Given the description of an element on the screen output the (x, y) to click on. 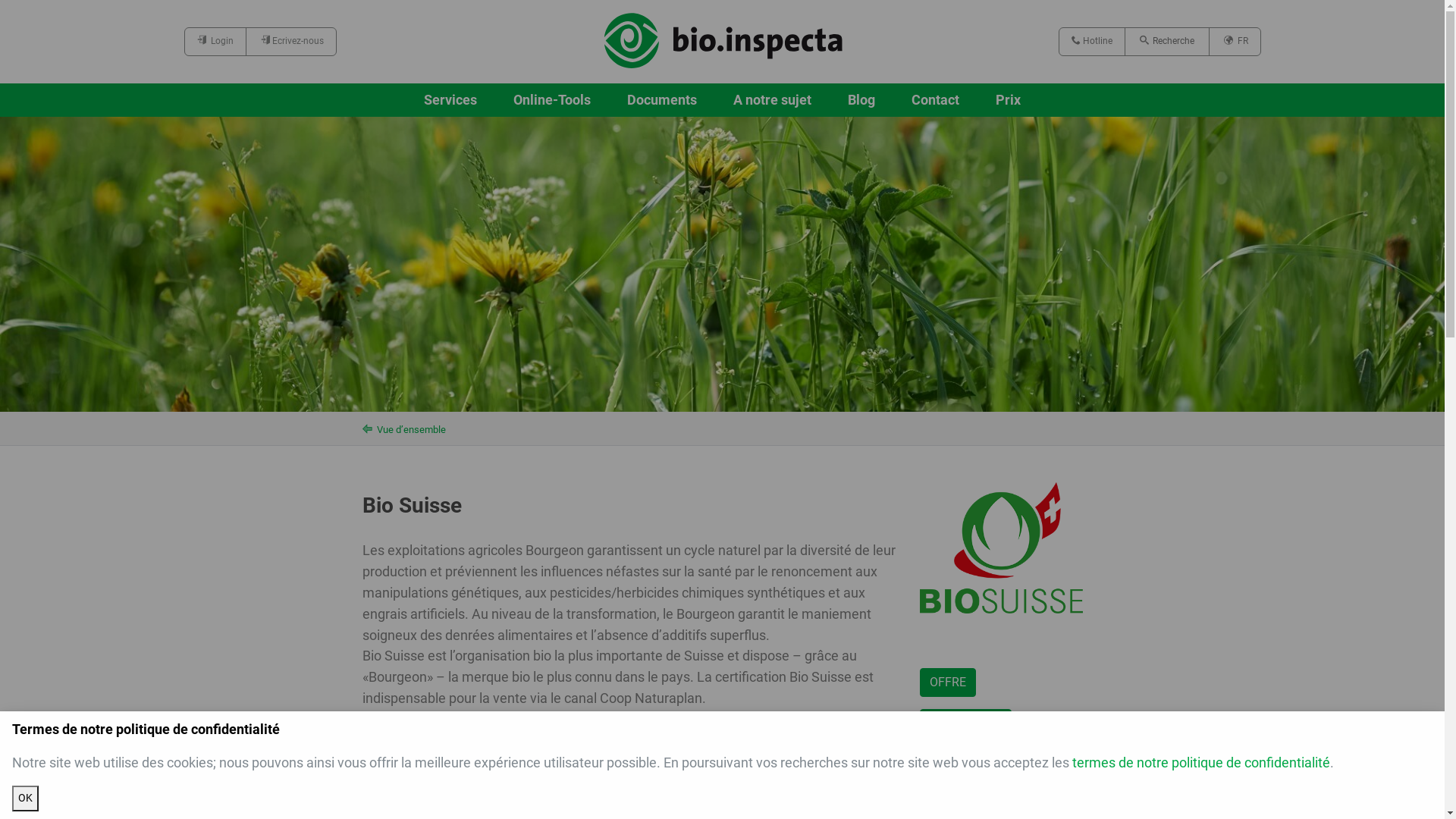
INSCRIPTION Element type: text (964, 723)
FICHE TECHNIQUE Element type: text (978, 763)
OK Element type: text (25, 798)
 Login Element type: text (215, 41)
Documents Element type: text (661, 99)
Blog Element type: text (861, 99)
A notre sujet Element type: text (772, 99)
Online-Tools Element type: text (551, 99)
Prix Element type: text (1007, 99)
Ecrivez-nous Element type: text (291, 41)
Contact Element type: text (935, 99)
OFFRE Element type: text (947, 682)
Services Element type: text (449, 99)
